Given the description of an element on the screen output the (x, y) to click on. 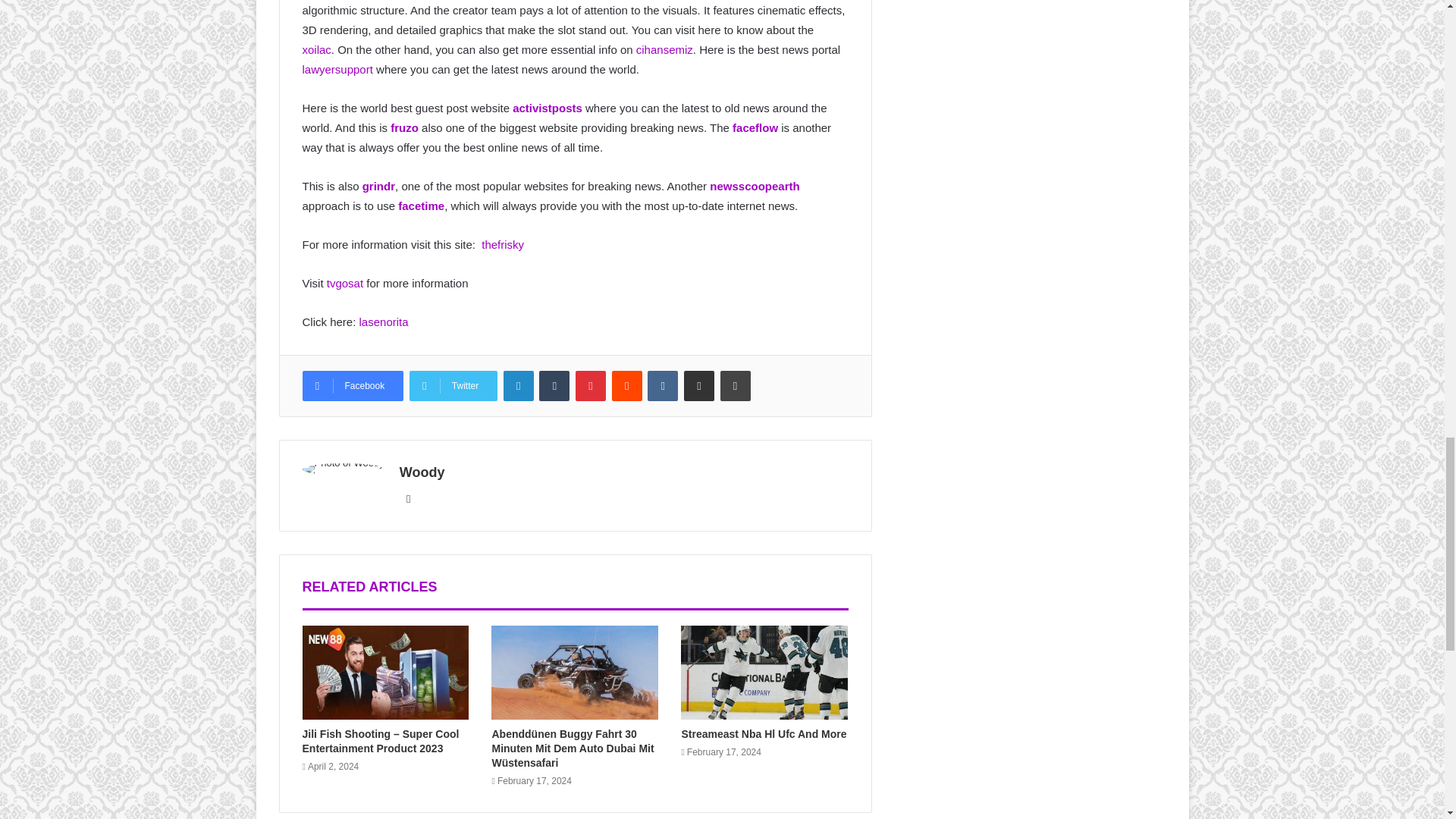
activistposts (547, 107)
newsscoopearth (754, 185)
faceflow (754, 127)
fruzo (404, 127)
lawyersupport (336, 69)
Pinterest (590, 386)
grindr (378, 185)
thefrisky (502, 244)
Twitter (453, 386)
lasenorita (381, 321)
Facebook (352, 386)
tvgosat (344, 282)
Reddit (626, 386)
VKontakte (662, 386)
cihansemiz (664, 49)
